Given the description of an element on the screen output the (x, y) to click on. 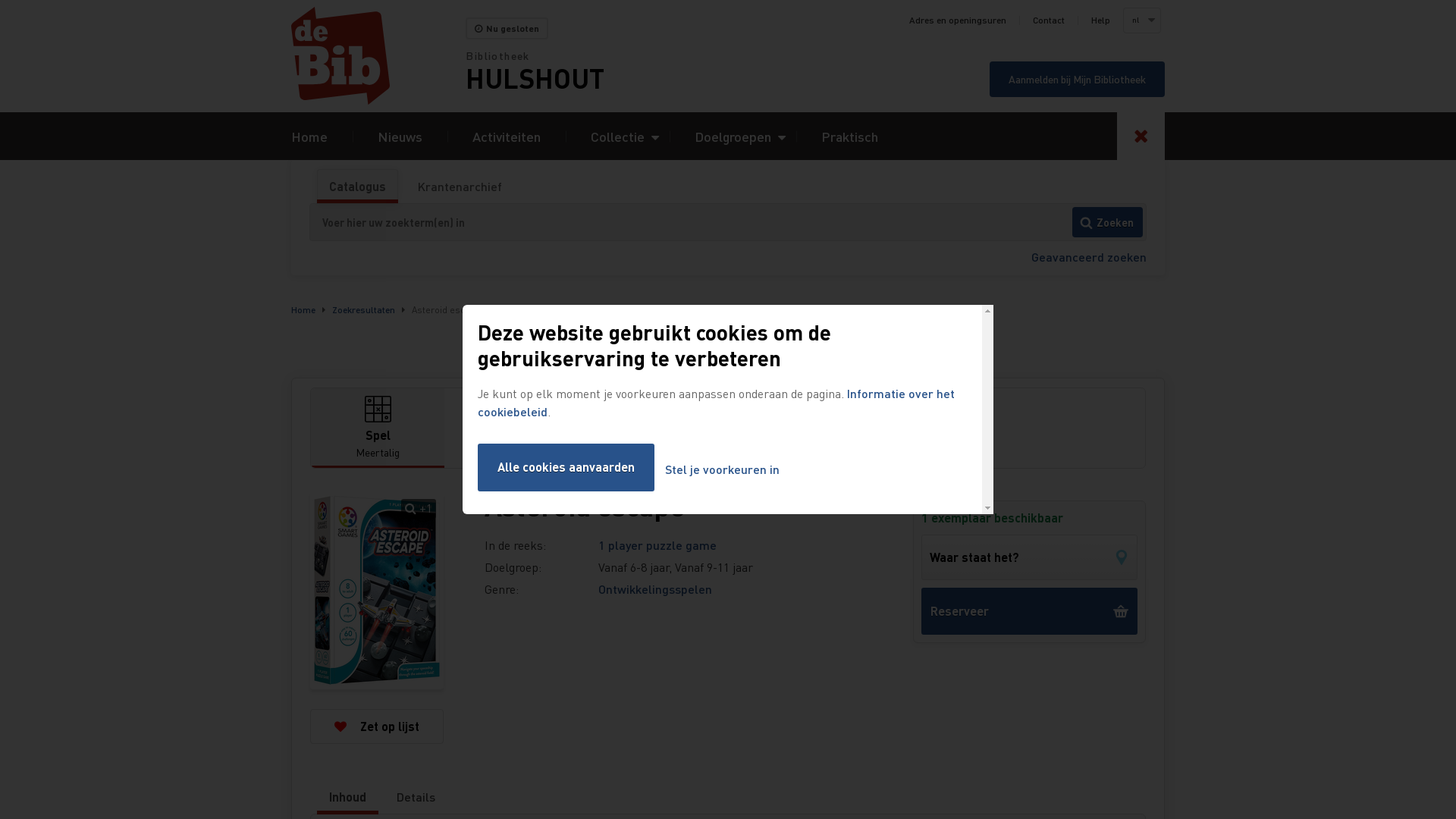
Reserveer Element type: text (1029, 610)
Zet op lijst Element type: text (376, 726)
Toggle search Element type: hover (1140, 136)
Details Element type: text (415, 796)
Home Element type: hover (378, 55)
Praktisch Element type: text (849, 136)
Informatie over het cookiebeleid Element type: text (715, 402)
Nieuws Element type: text (399, 136)
Aanmelden bij Mijn Bibliotheek Element type: text (1076, 79)
Waar staat het? Element type: text (1029, 557)
Home Element type: text (303, 309)
Inhoud Element type: text (347, 796)
Zoekresultaten Element type: text (363, 309)
Help Element type: text (1100, 20)
Overslaan en naar zoeken gaan Element type: text (0, 0)
Stel je voorkeuren in Element type: text (722, 469)
Geavanceerd zoeken Element type: text (1088, 256)
Home Element type: text (309, 136)
1 player puzzle game Element type: text (657, 544)
Adres en openingsuren Element type: text (957, 20)
Nu gesloten Element type: text (506, 28)
Zoeken Element type: text (1107, 222)
Activiteiten Element type: text (506, 136)
Krantenarchief Element type: text (459, 186)
Contact Element type: text (1048, 20)
nl Element type: text (1140, 20)
Ontwikkelingsspelen Element type: text (655, 588)
Alle cookies aanvaarden Element type: text (565, 466)
Catalogus Element type: text (357, 186)
